Given the description of an element on the screen output the (x, y) to click on. 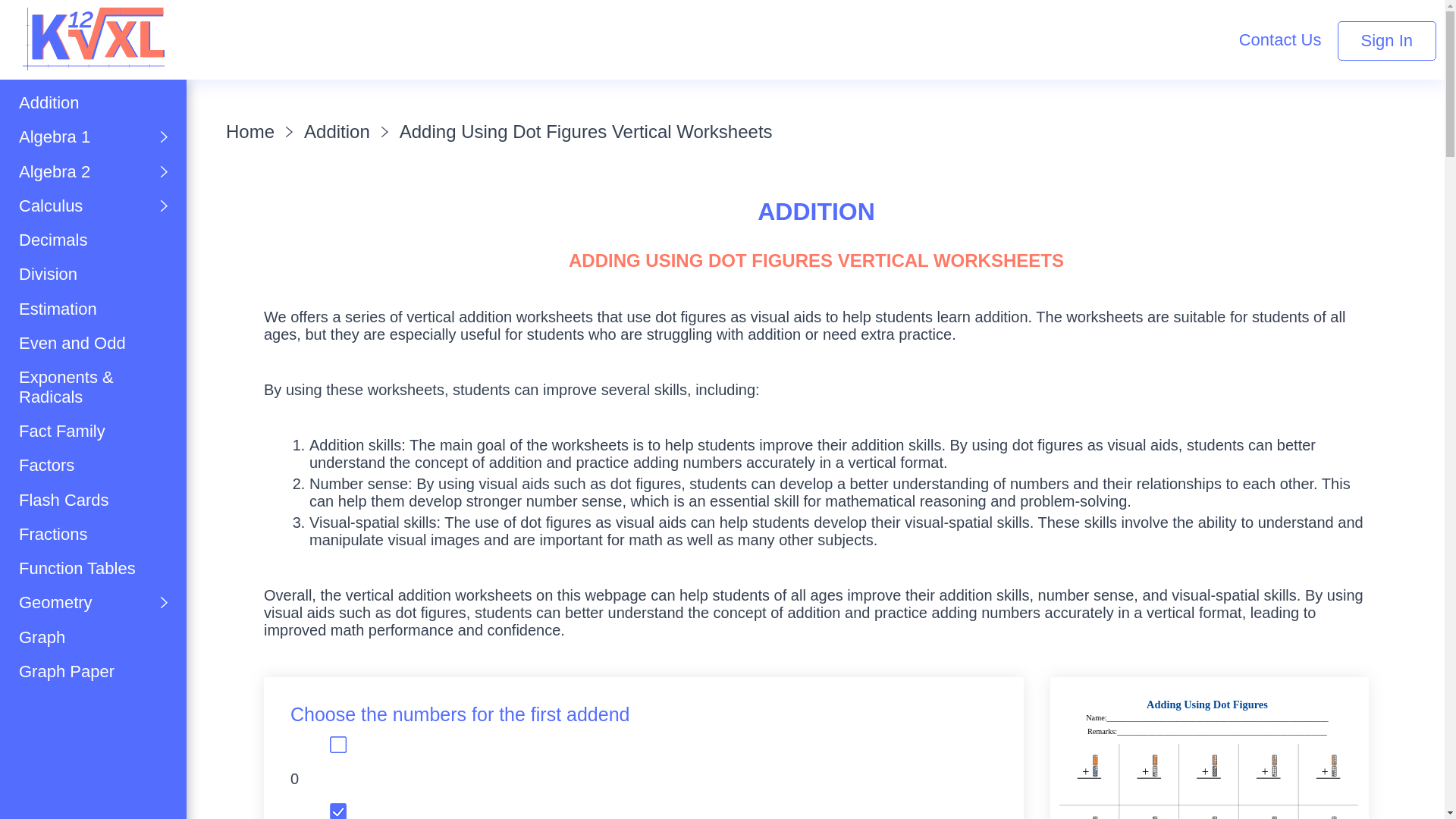
Advertisement (93, 772)
Addition (93, 102)
Sign In (1387, 40)
Algebra 2 (93, 171)
Algebra 1 (93, 136)
Contact Us (1280, 39)
Calculus (93, 205)
Advertisement (374, 33)
